Given the description of an element on the screen output the (x, y) to click on. 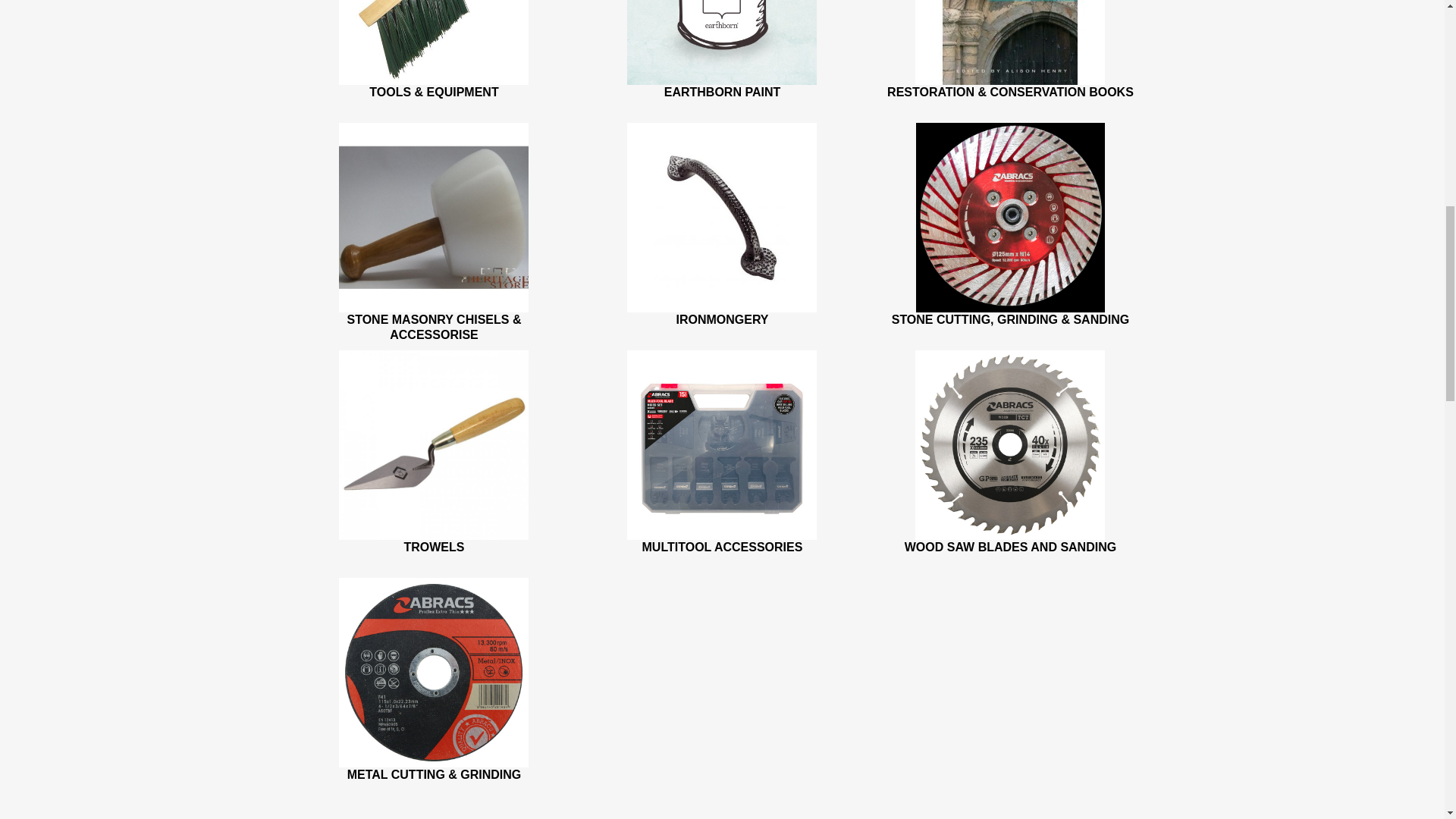
MULTITOOL ACCESSORIES (722, 546)
IRONMONGERY (721, 318)
EARTHBORN PAINT (721, 91)
TROWELS (433, 546)
WOOD SAW BLADES AND SANDING (1010, 546)
